Given the description of an element on the screen output the (x, y) to click on. 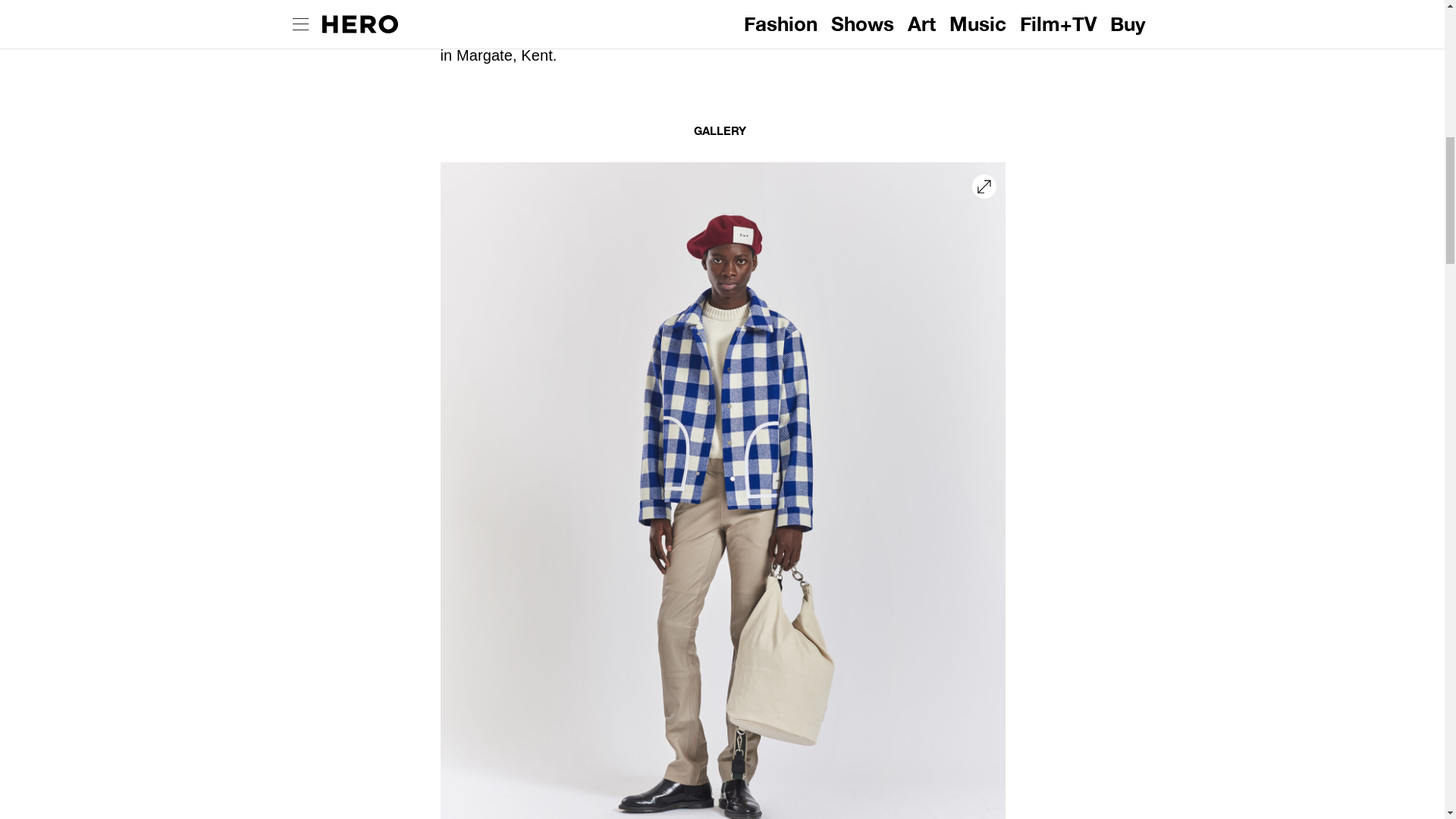
a location he has celebrated in the past (773, 9)
